Given the description of an element on the screen output the (x, y) to click on. 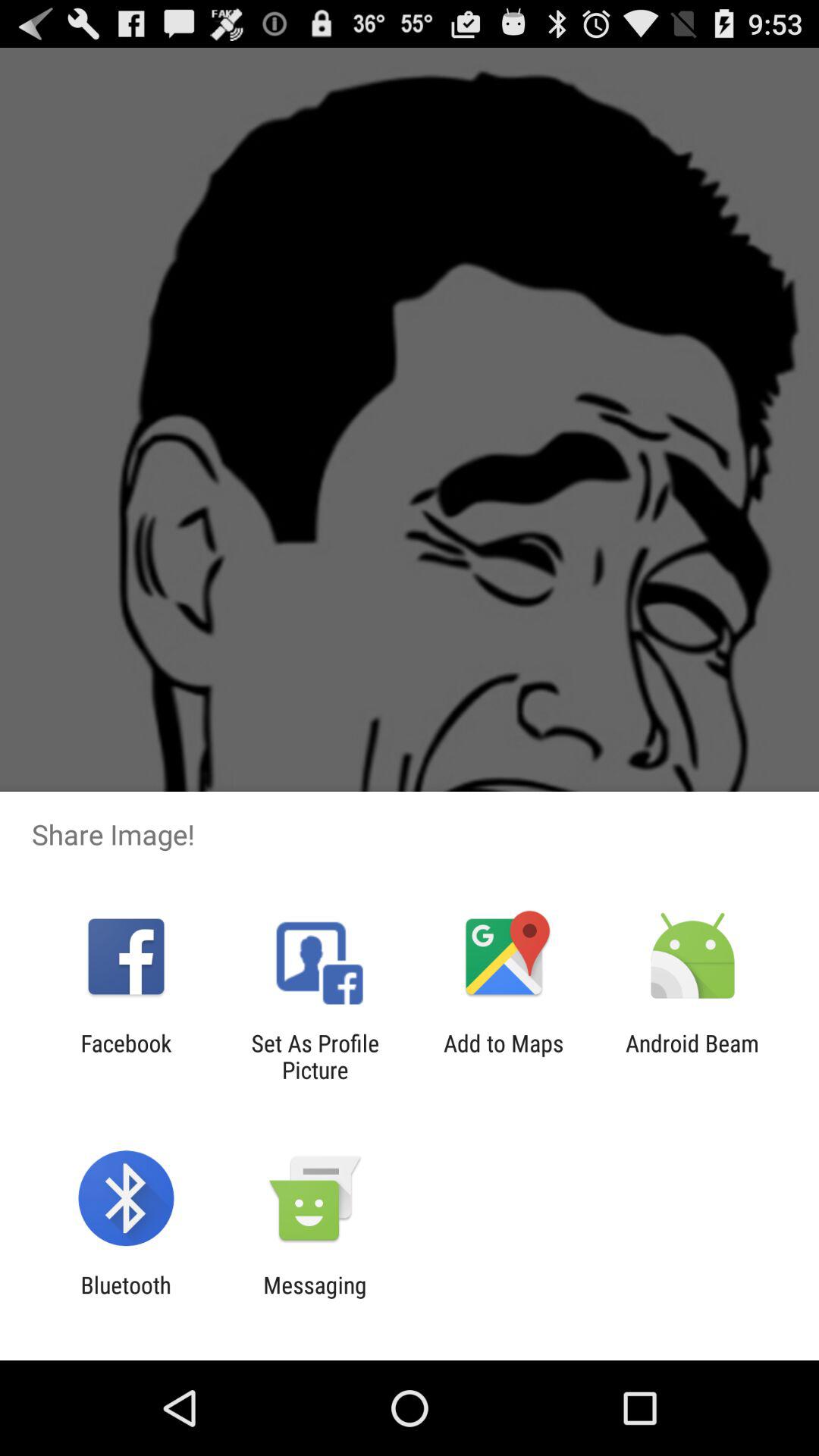
turn on facebook icon (125, 1056)
